Given the description of an element on the screen output the (x, y) to click on. 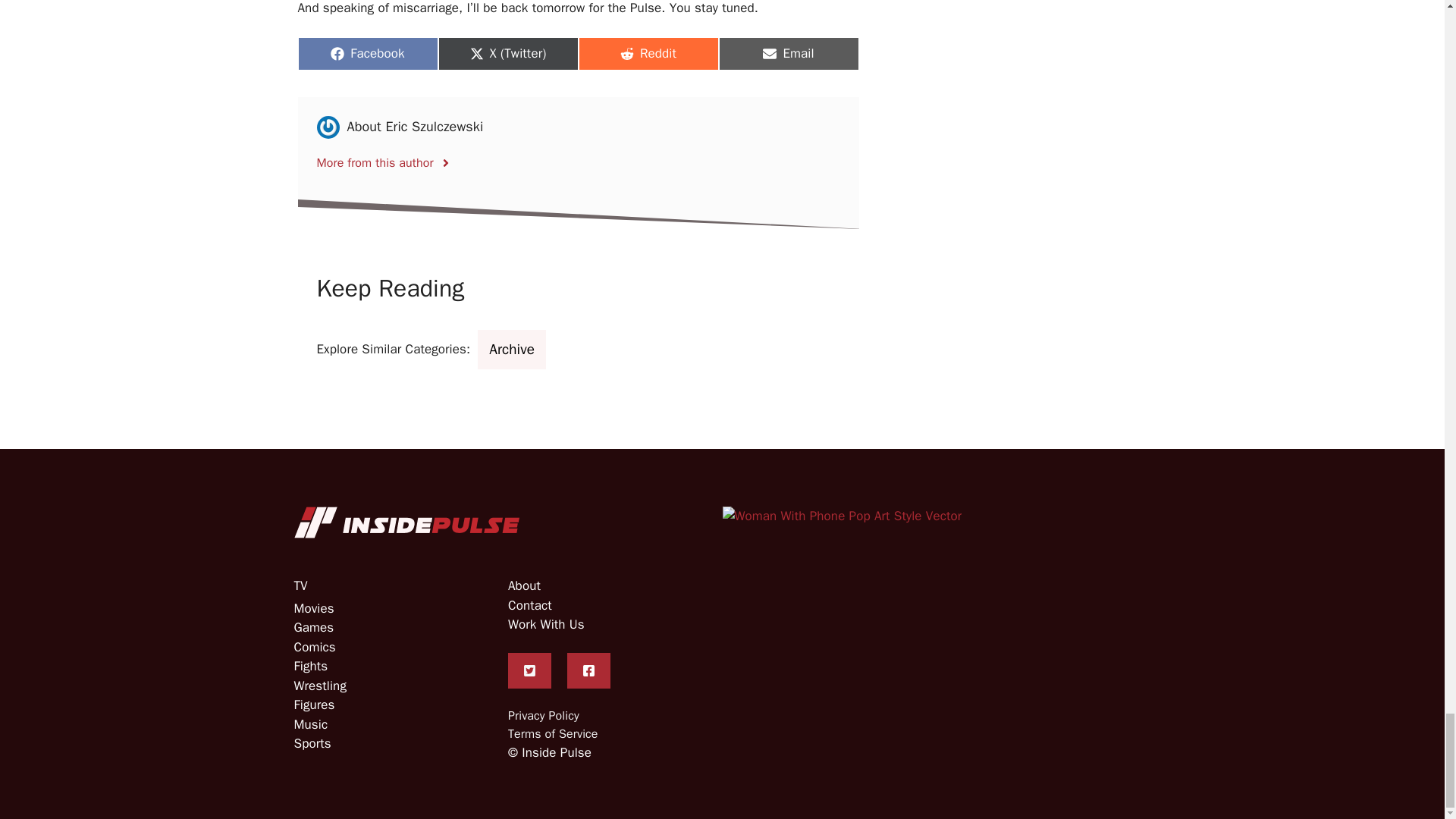
Inside Pulse Reverse Logo A (407, 522)
Woman with phone pop art style vector (841, 516)
